Given the description of an element on the screen output the (x, y) to click on. 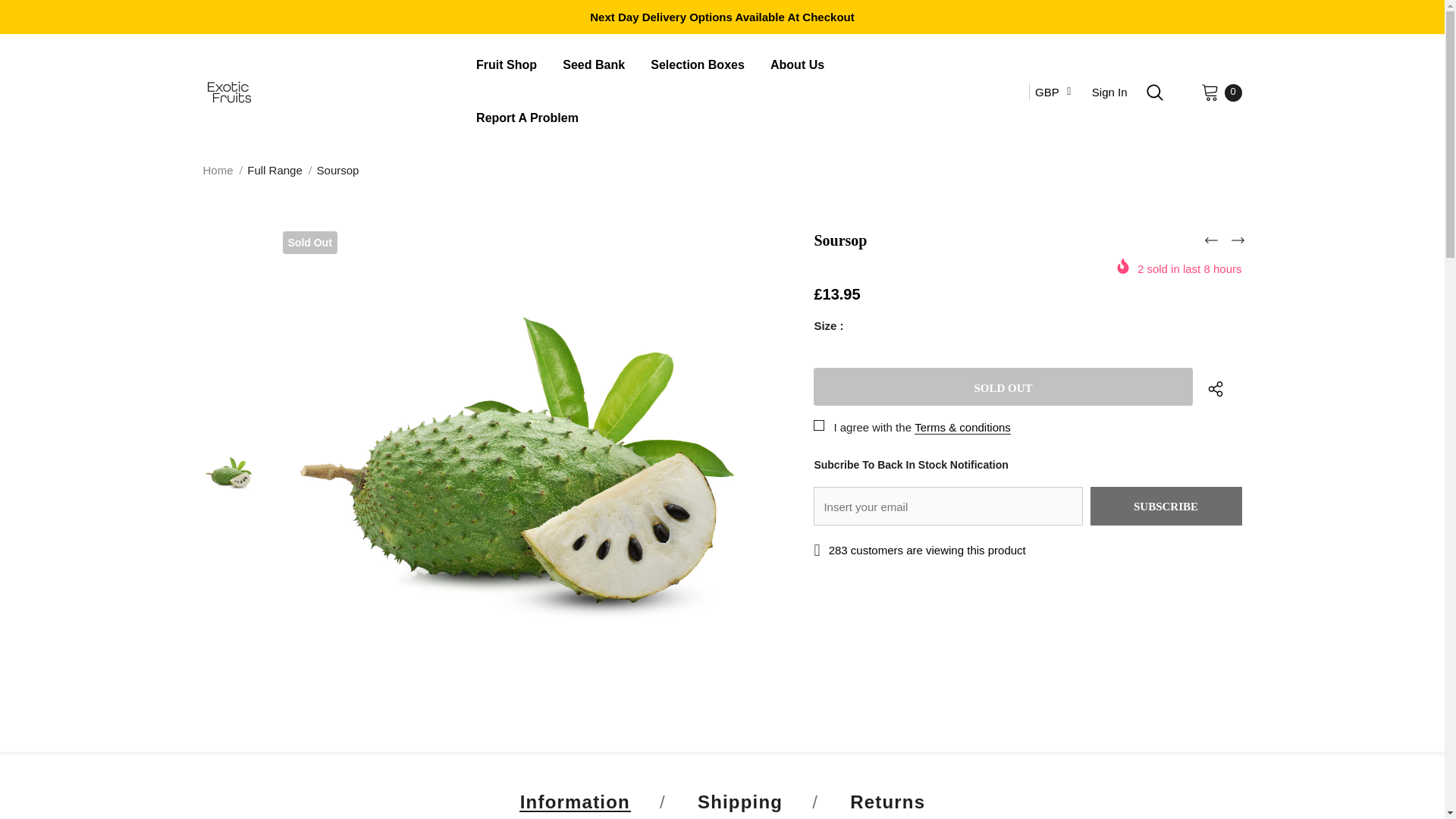
Seed Bank (593, 66)
Sign In (1109, 91)
Logo (328, 91)
Search Icon (1155, 92)
Sold Out (1002, 386)
Selection Boxes (697, 66)
Report A Problem (527, 119)
Fruit Shop (506, 66)
Cart Icon (1210, 91)
About Us (797, 66)
